Given the description of an element on the screen output the (x, y) to click on. 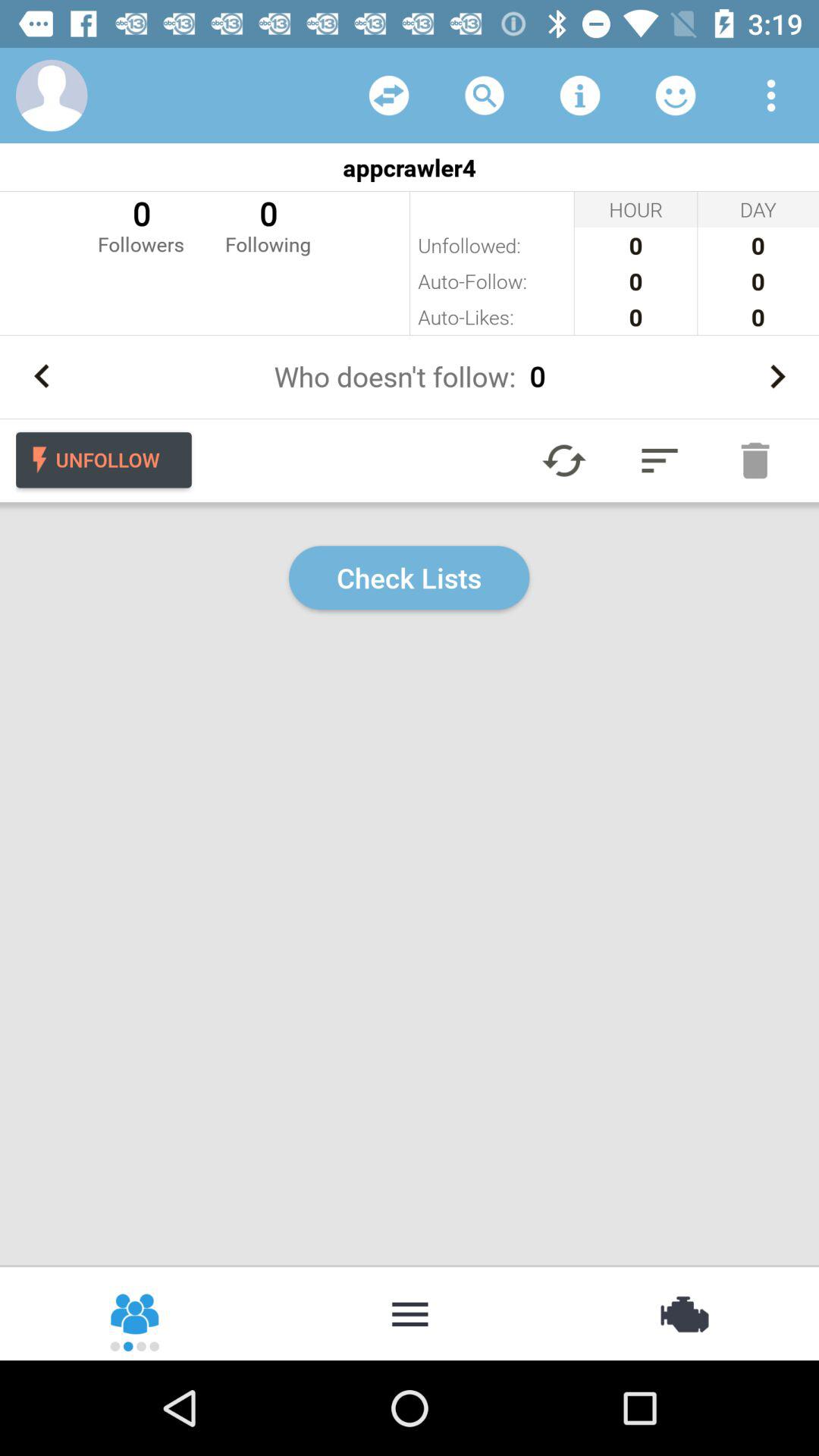
open drop down menu (771, 95)
